Given the description of an element on the screen output the (x, y) to click on. 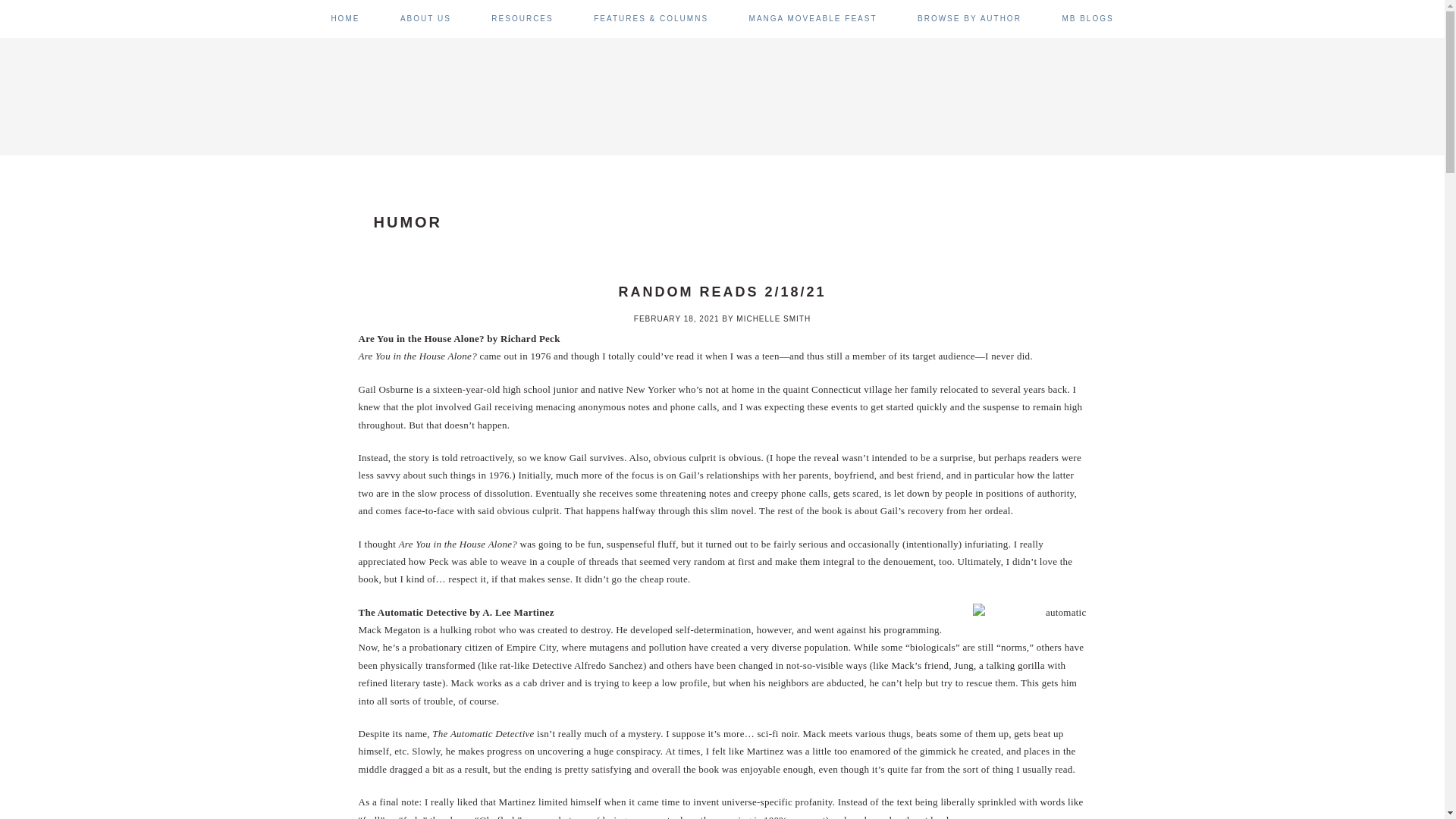
Posts by Michelle Smith (773, 318)
ABOUT US (425, 18)
MANGA MOVEABLE FEAST (813, 18)
HOME (344, 18)
RESOURCES (521, 18)
